Given the description of an element on the screen output the (x, y) to click on. 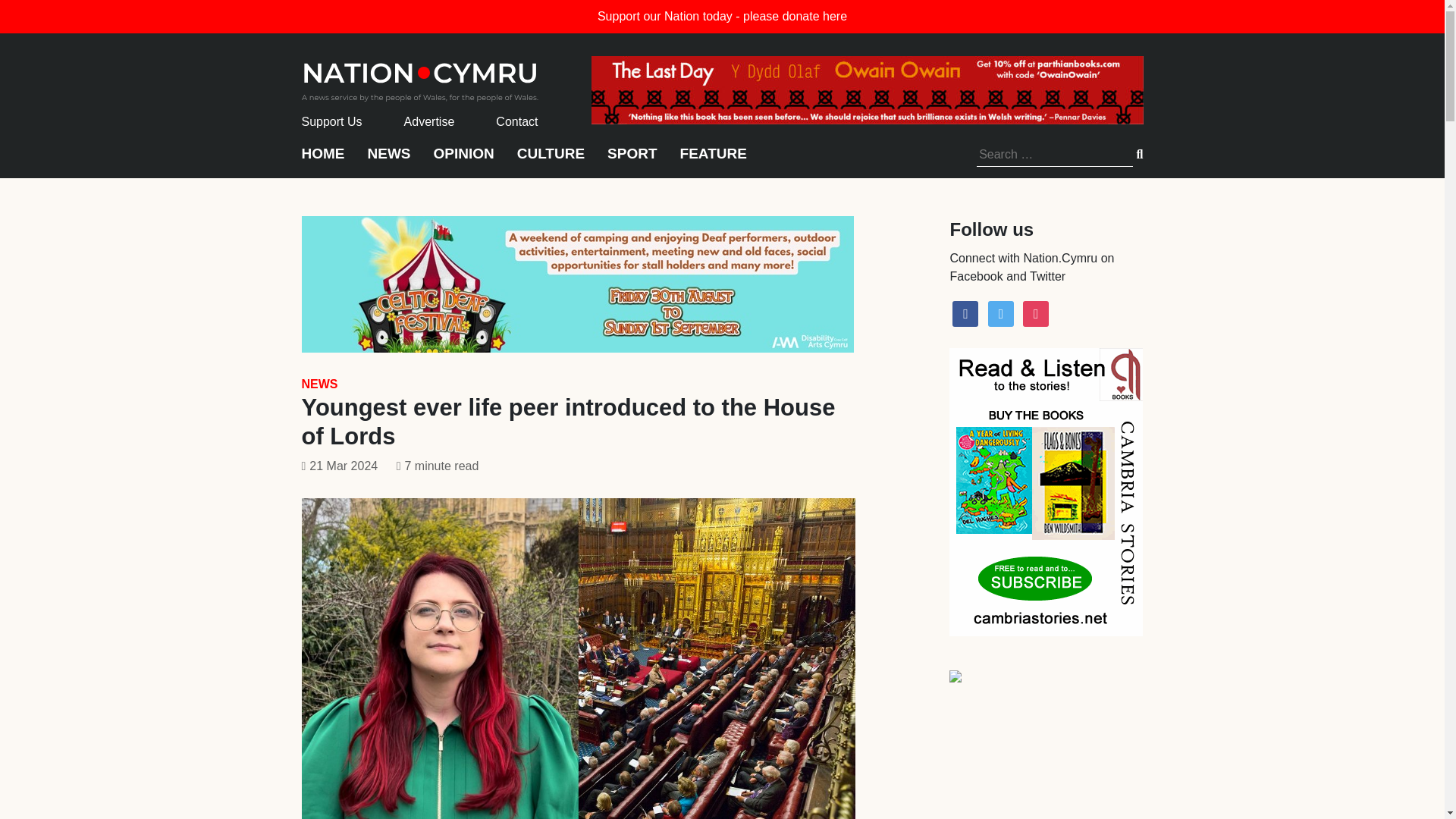
Advertise (429, 121)
NEWS (388, 160)
home (419, 77)
CULTURE (550, 160)
HOME (323, 160)
NEWS (319, 383)
OPINION (464, 160)
Contact (516, 121)
FEATURE (712, 160)
SPORT (631, 160)
Support Us (331, 121)
